Given the description of an element on the screen output the (x, y) to click on. 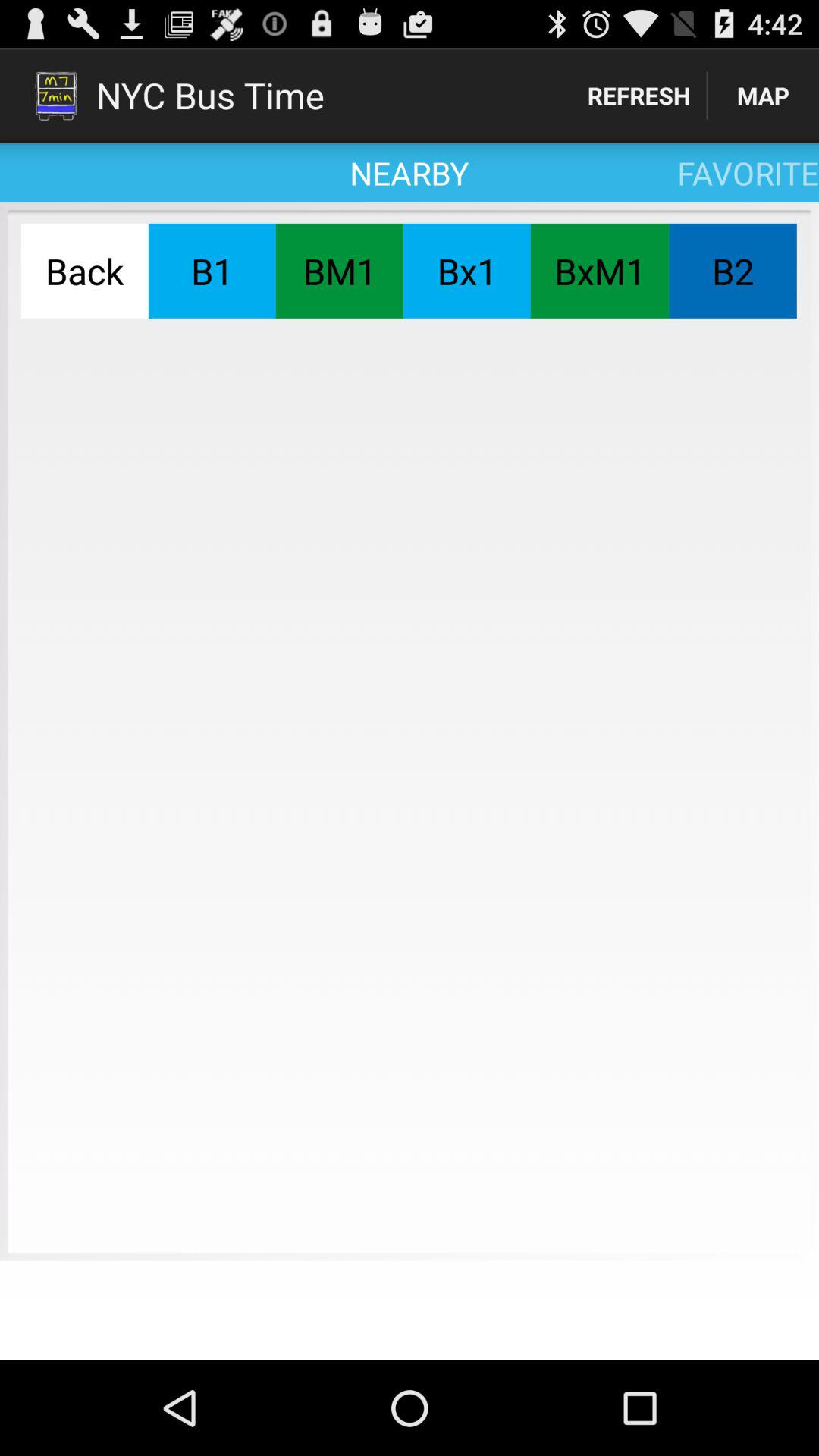
jump to refresh icon (638, 95)
